Given the description of an element on the screen output the (x, y) to click on. 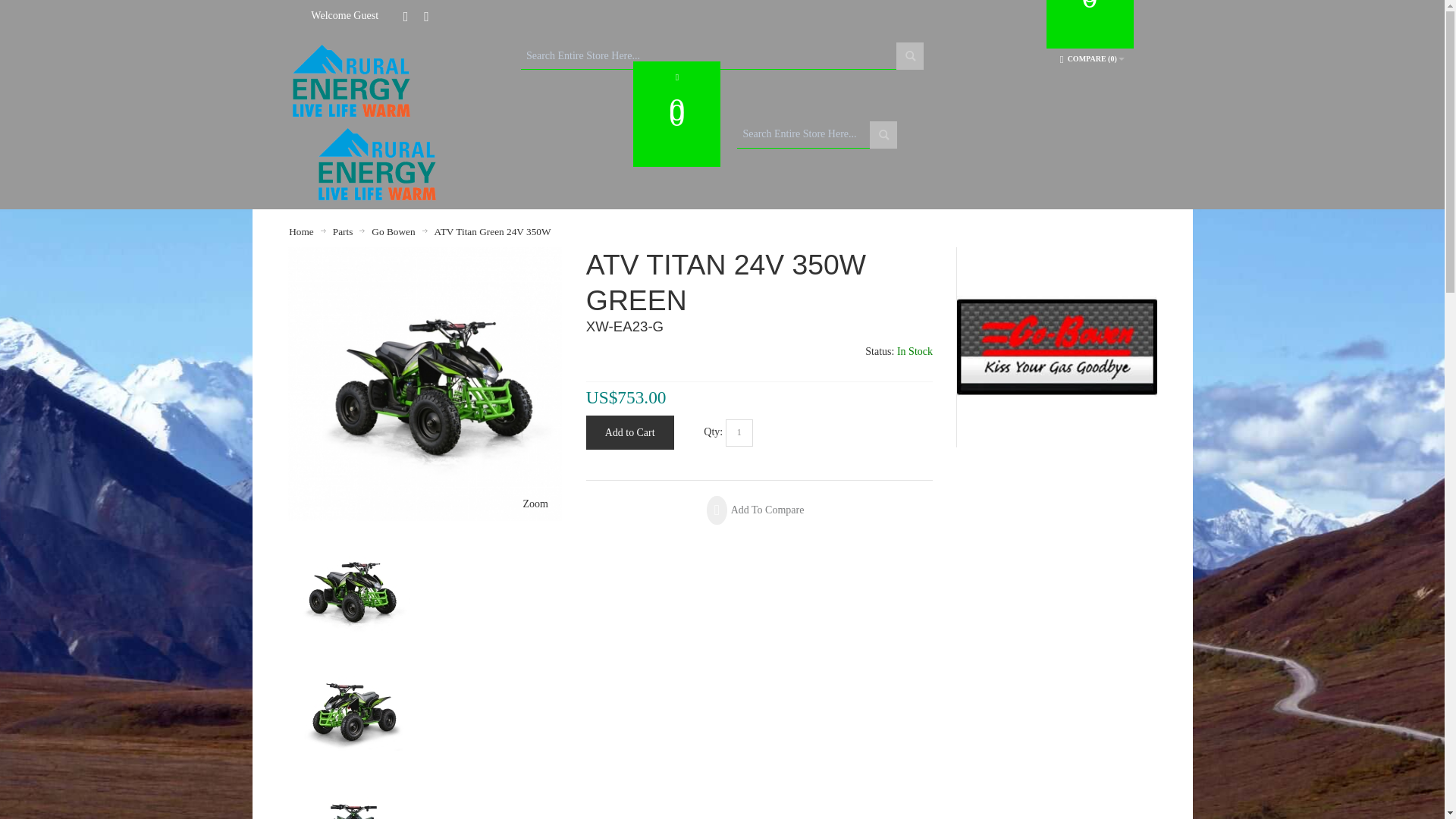
1 (738, 432)
You have no items to compare. (1091, 58)
Search (909, 55)
Search (882, 134)
Check the items in your Cart (1090, 24)
 ATV Titan 24V 350W Green (425, 255)
